Given the description of an element on the screen output the (x, y) to click on. 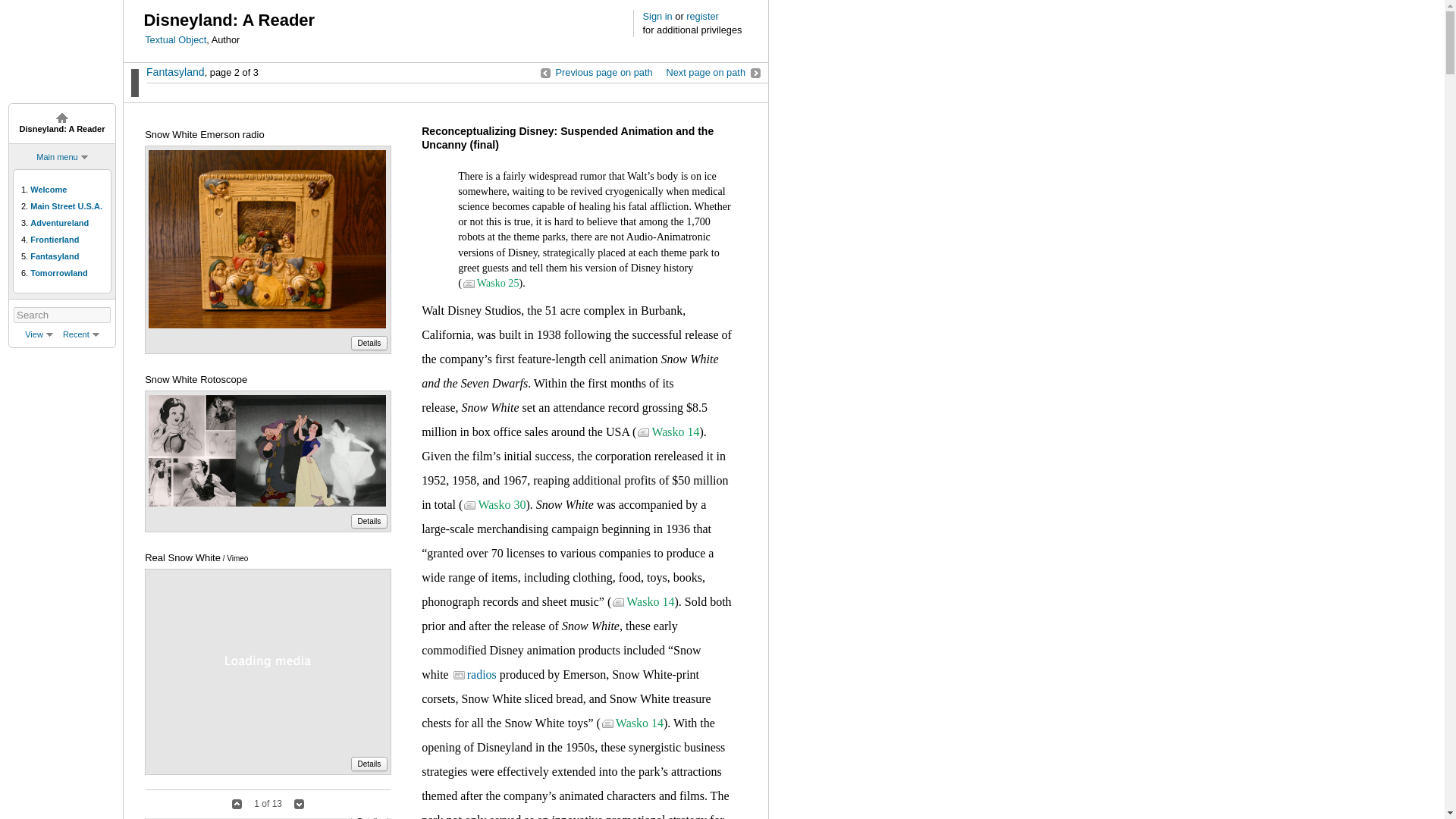
Main menu (56, 156)
Next page on path (712, 71)
Details (369, 763)
Recent (80, 334)
Main Street U.S.A. (65, 205)
Adventureland (59, 222)
Details (369, 521)
Details (369, 342)
Sign in (657, 16)
View (38, 334)
Textual Object (175, 39)
Welcome (48, 189)
register (702, 16)
Fantasyland (54, 256)
